Given the description of an element on the screen output the (x, y) to click on. 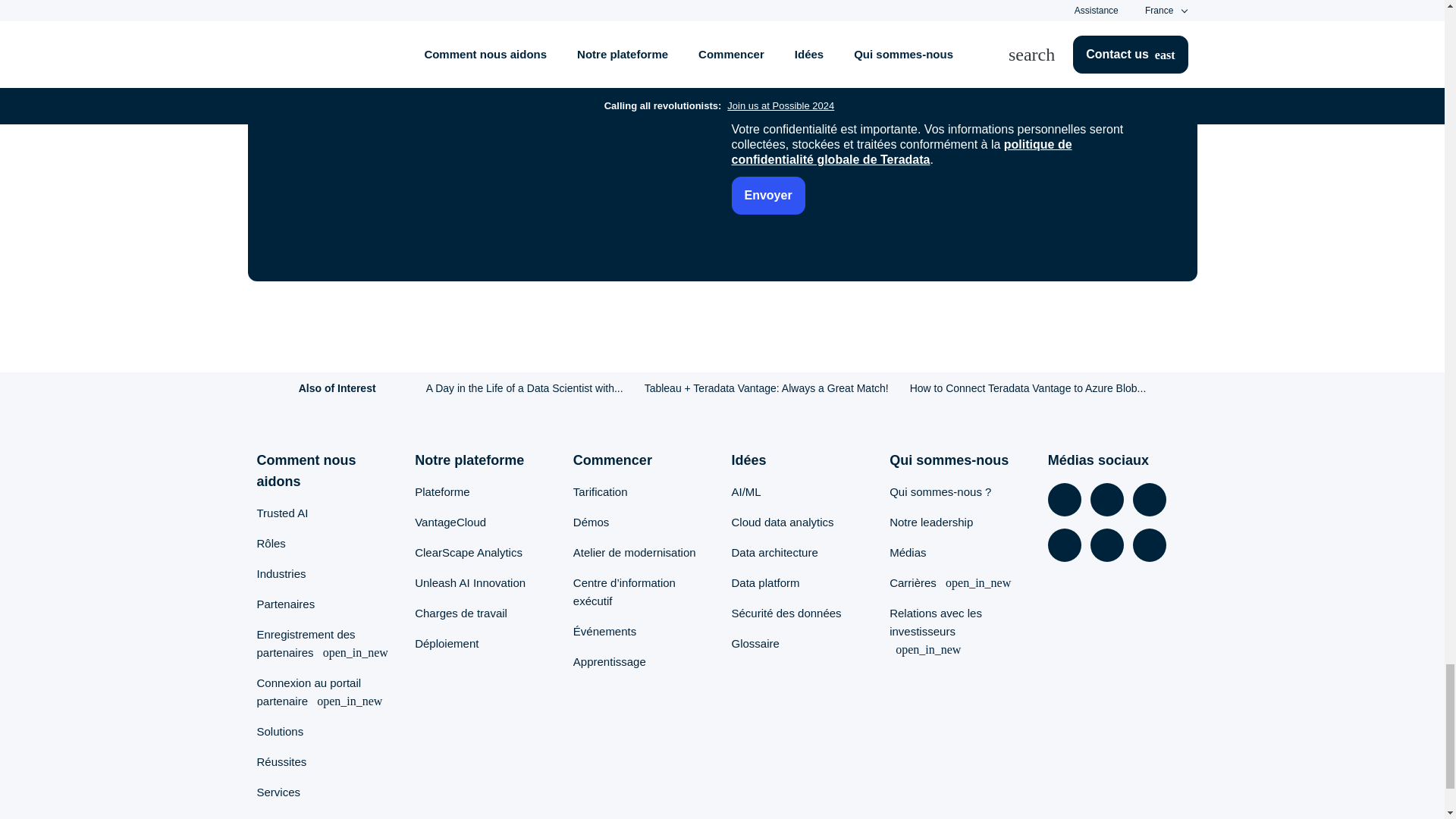
No (791, 2)
Yes (736, 2)
Envoyer (767, 195)
